Given the description of an element on the screen output the (x, y) to click on. 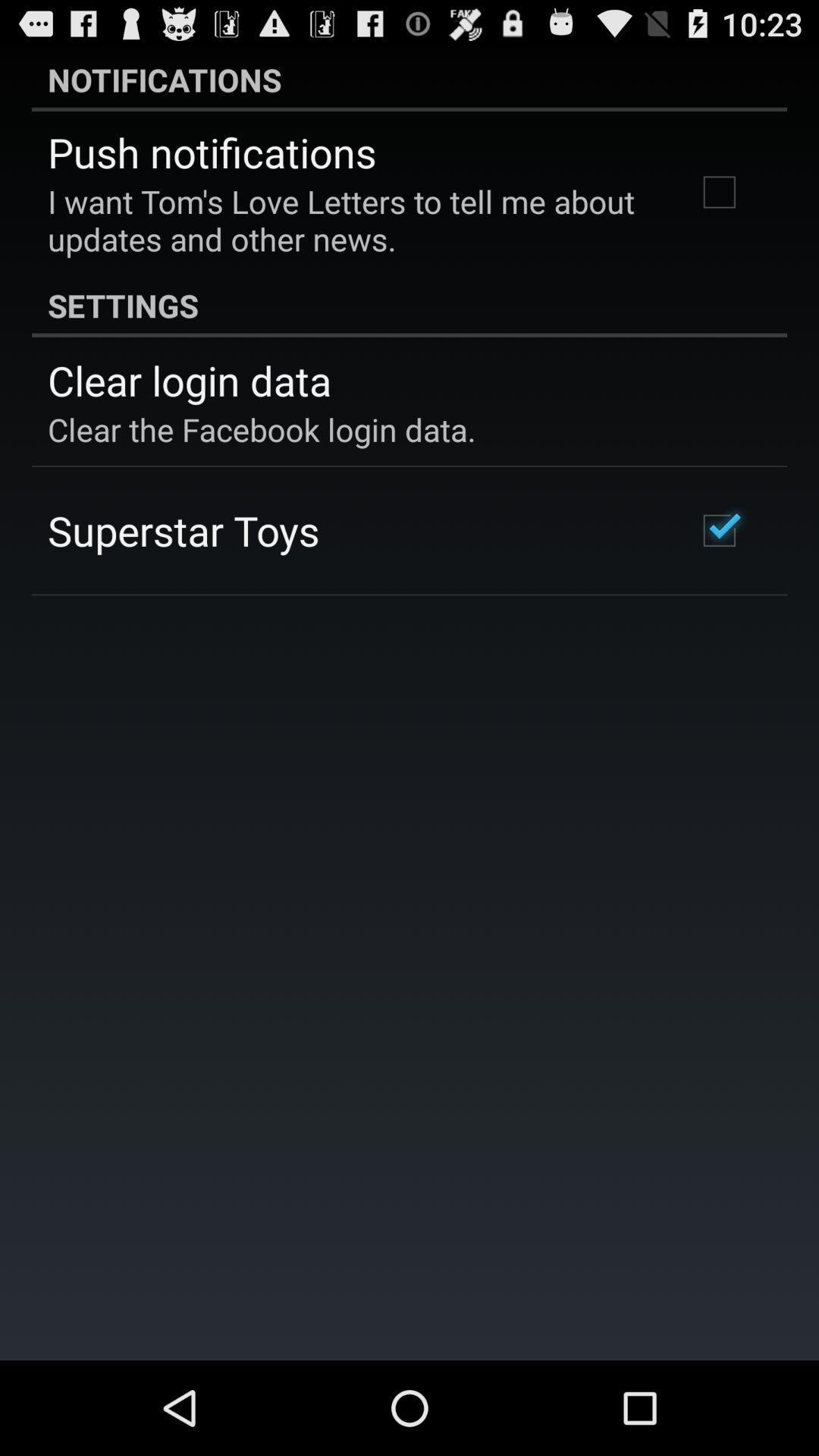
turn off the clear the facebook app (261, 429)
